Given the description of an element on the screen output the (x, y) to click on. 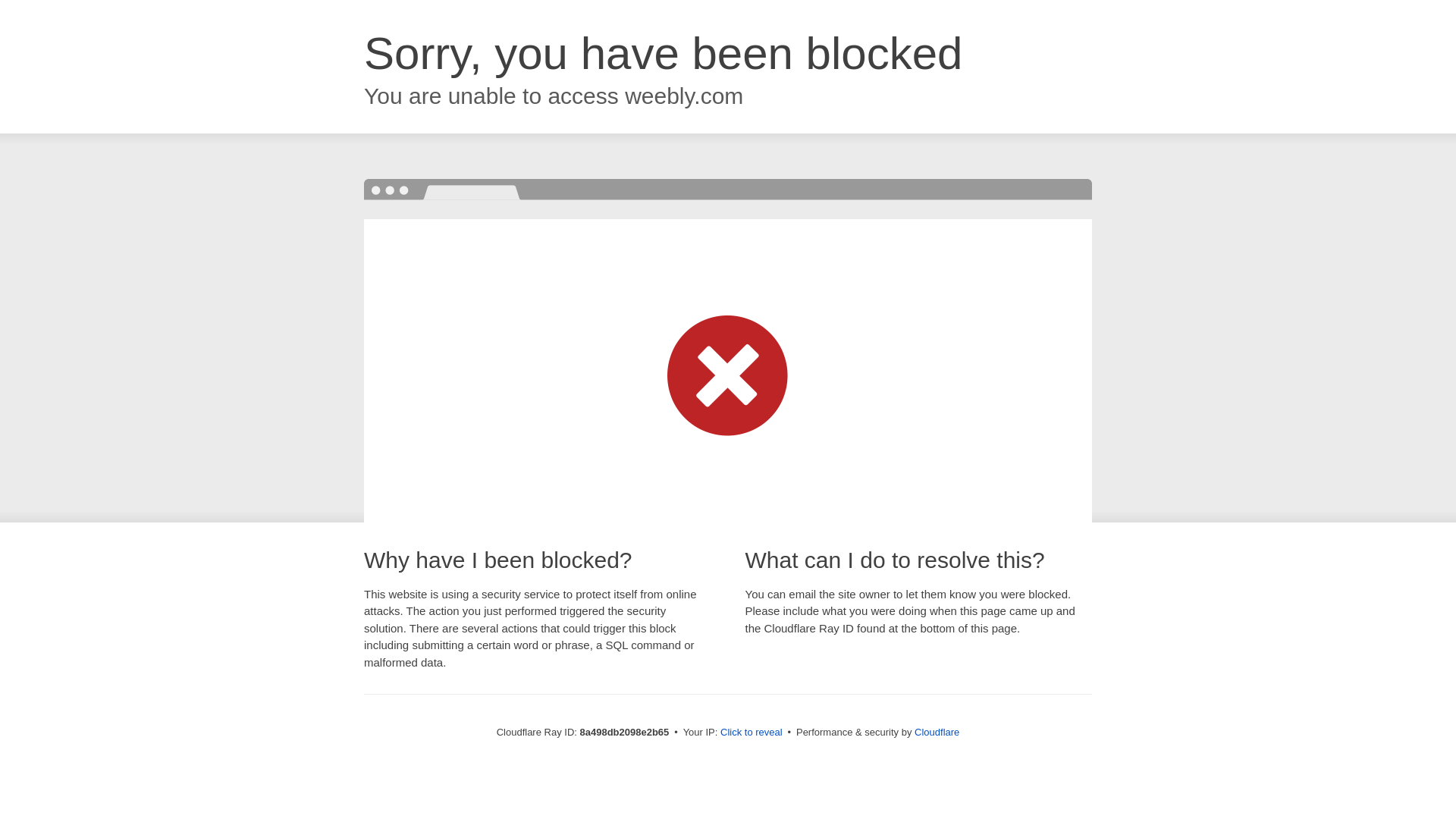
Click to reveal (751, 732)
Cloudflare (936, 731)
